Given the description of an element on the screen output the (x, y) to click on. 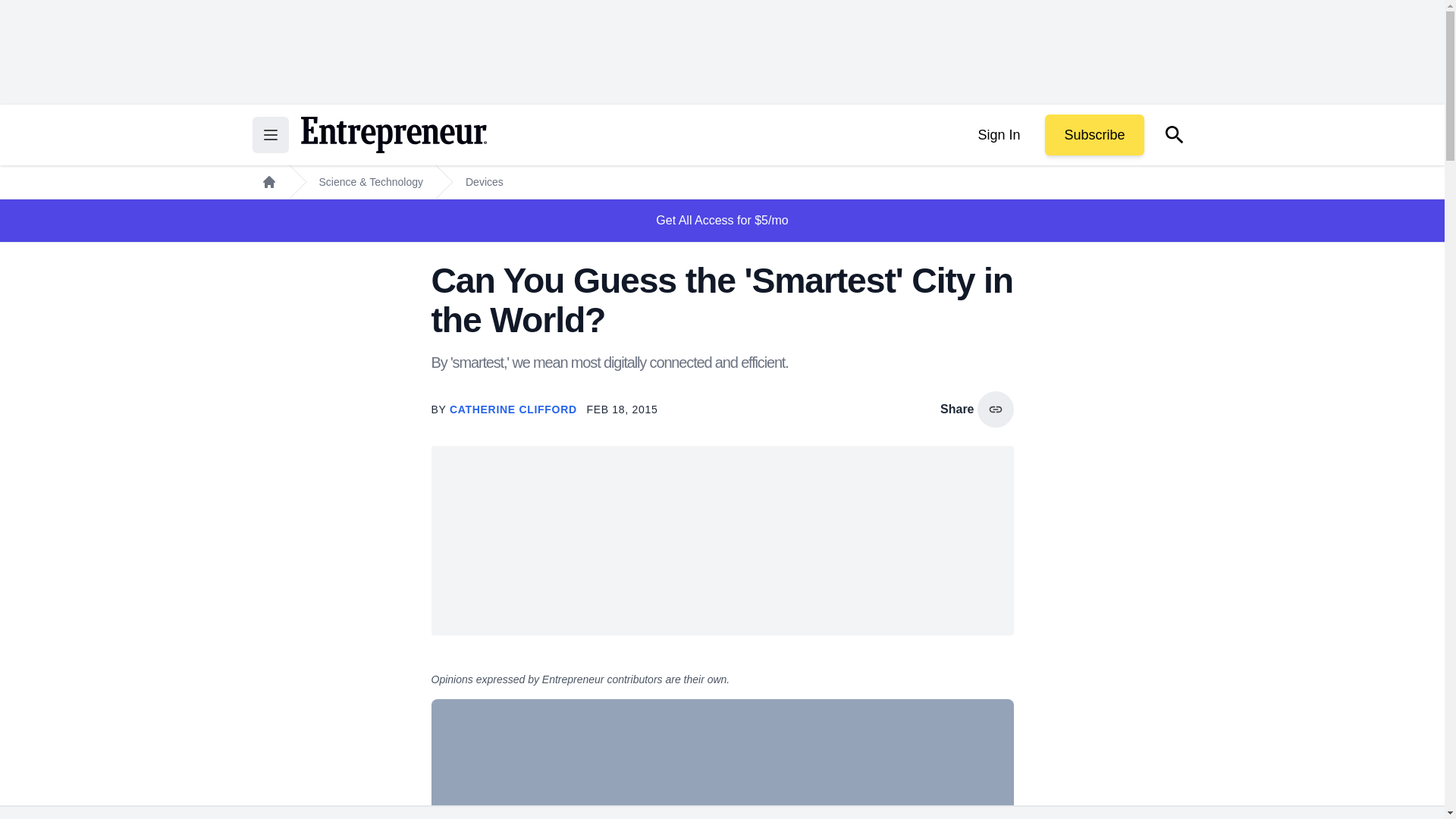
Return to the home page (392, 135)
copy (994, 409)
Subscribe (1093, 134)
Sign In (998, 134)
